Given the description of an element on the screen output the (x, y) to click on. 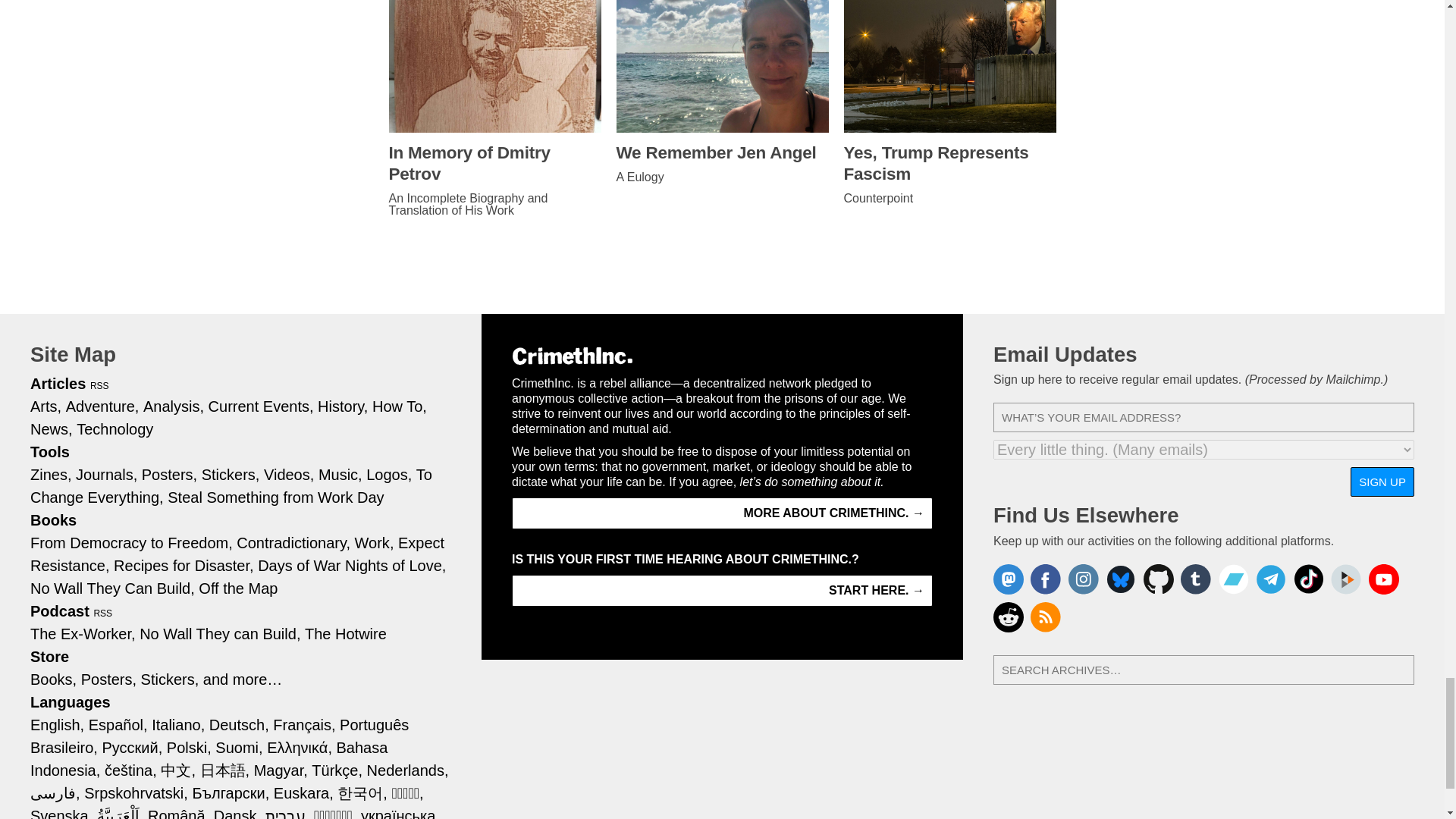
We Remember Jen Angel (721, 152)
Yes, Trump Represents Fascism (949, 163)
Current Events (261, 406)
History (342, 406)
Arts (45, 406)
Analysis (172, 406)
Articles (57, 383)
An Incomplete Biography and Translation of His Work (493, 204)
RSS (99, 385)
How To (399, 406)
In Memory of Dmitry Petrov (493, 163)
Counterpoint (949, 198)
A Eulogy (721, 177)
Adventure (102, 406)
